Given the description of an element on the screen output the (x, y) to click on. 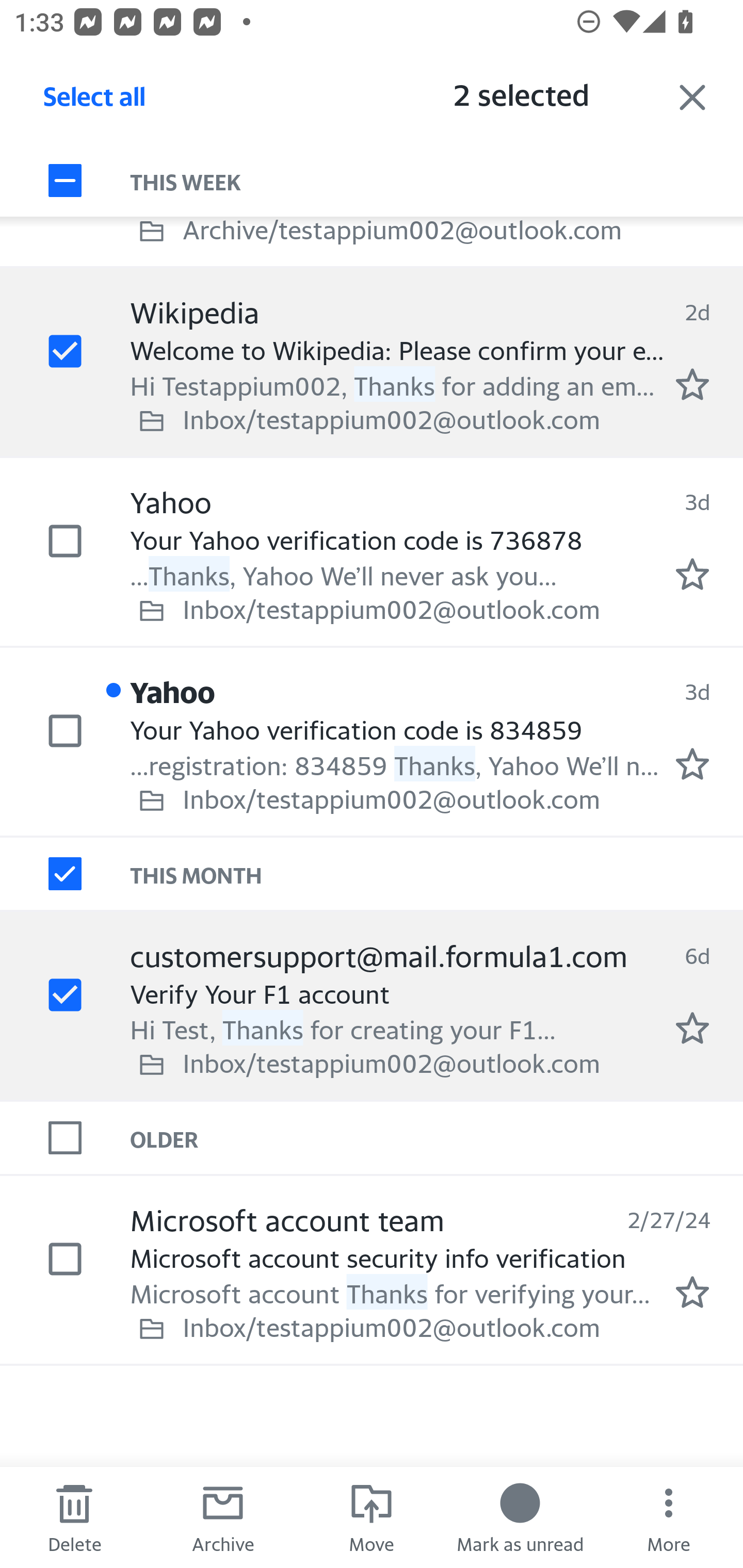
Exit selection mode (692, 97)
Select all (94, 101)
Mark as starred. (692, 384)
Mark as starred. (692, 574)
Mark as starred. (692, 764)
THIS MONTH (436, 873)
Mark as starred. (692, 1027)
OLDER (436, 1137)
Mark as starred. (692, 1291)
Delete (74, 1517)
Archive (222, 1517)
Move (371, 1517)
Mark as unread (519, 1517)
More (668, 1517)
